Given the description of an element on the screen output the (x, y) to click on. 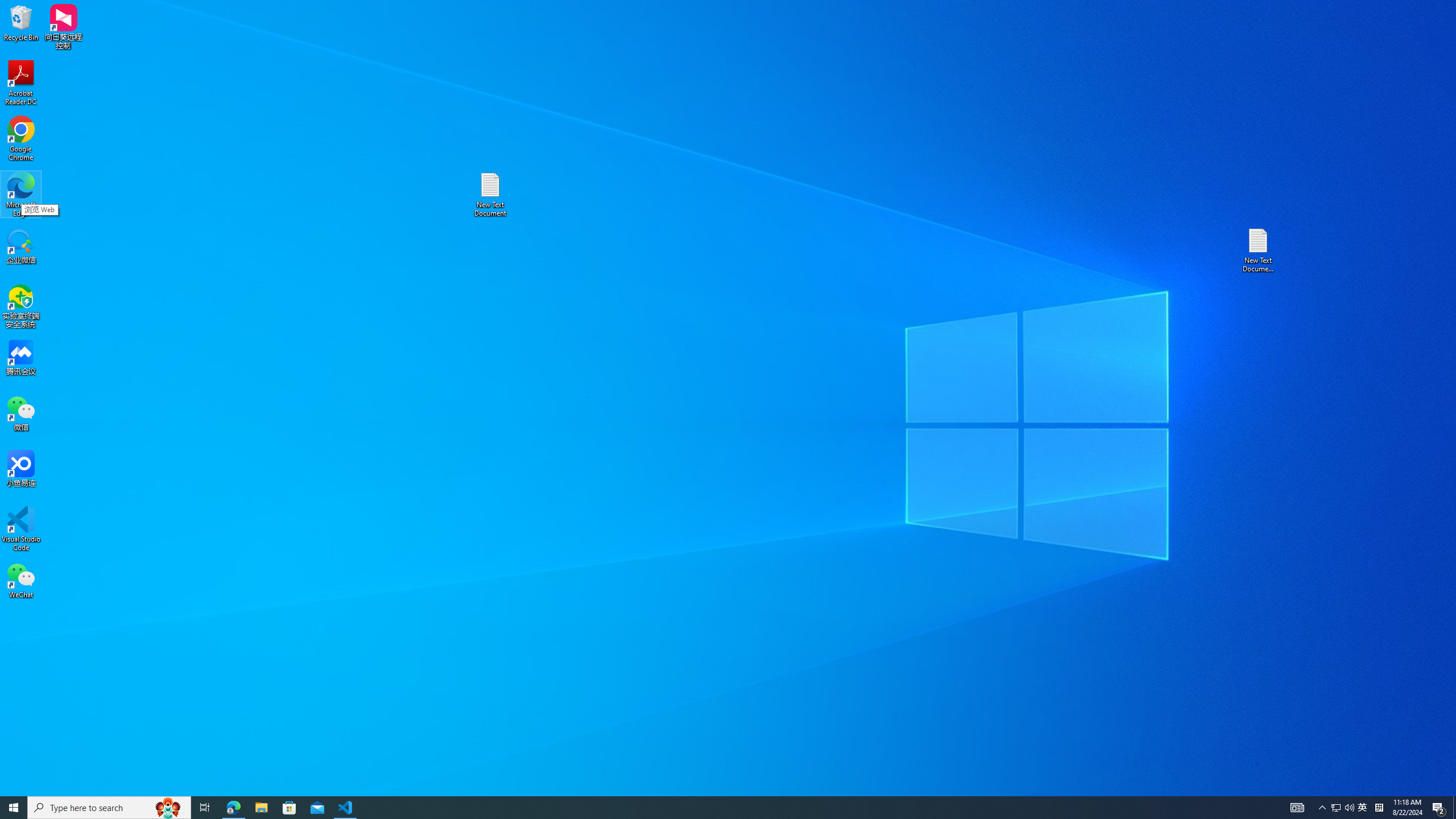
File Explorer (261, 807)
Type here to search (108, 807)
Microsoft Edge - 1 running window (233, 807)
Visual Studio Code (21, 528)
Q2790: 100% (1349, 807)
User Promoted Notification Area (1342, 807)
Recycle Bin (21, 22)
Notification Chevron (1322, 807)
Search highlights icon opens search home window (167, 807)
